Given the description of an element on the screen output the (x, y) to click on. 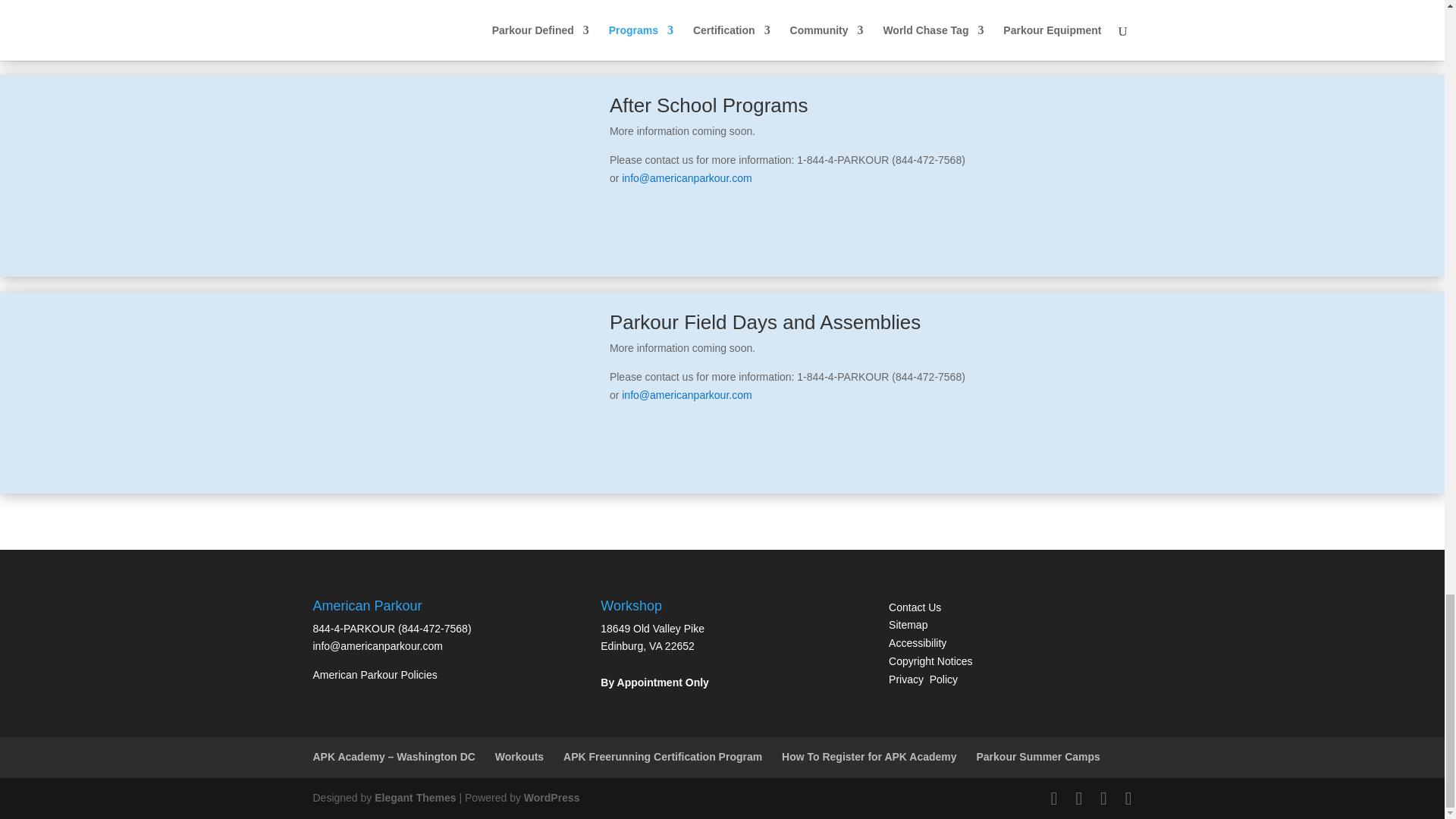
APK Freerunning Certification Program (662, 756)
How To Register for APK Academy (868, 756)
Workouts (519, 756)
Premium WordPress Themes (414, 797)
American Parkour Policies (374, 674)
Contact Us (914, 607)
Parkour Summer Camps (1038, 756)
